Given the description of an element on the screen output the (x, y) to click on. 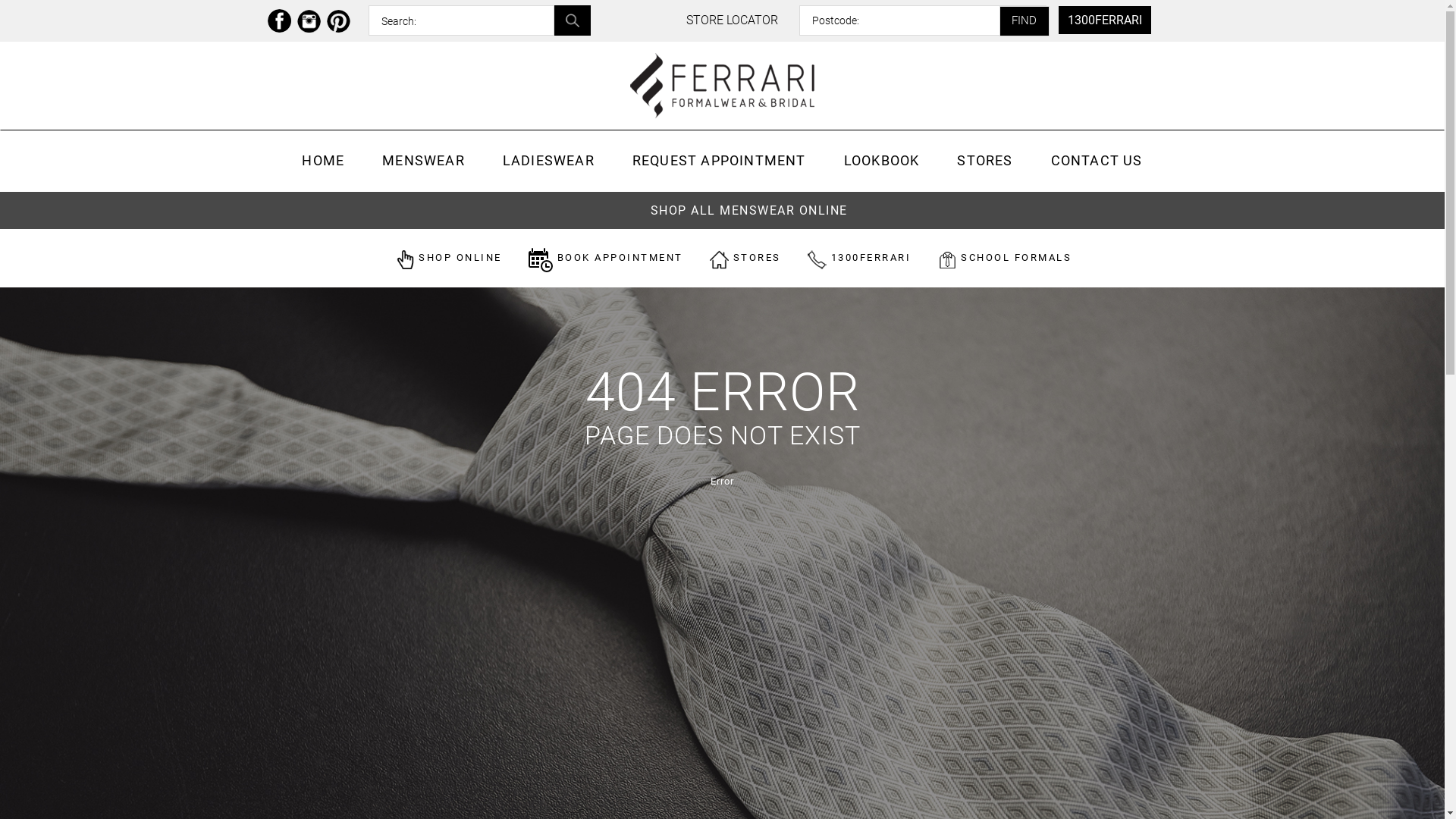
1300FERRARI Element type: text (847, 257)
HOME Element type: text (322, 160)
REQUEST APPOINTMENT Element type: text (719, 160)
SHOP ONLINE Element type: text (437, 257)
CONTACT US Element type: text (1096, 160)
SCHOOL FORMALS Element type: text (993, 257)
LOOKBOOK Element type: text (881, 160)
STORES Element type: text (734, 257)
SHOP ALL MENSWEAR ONLINE Element type: text (748, 210)
LADIESWEAR Element type: text (548, 160)
MENSWEAR Element type: text (423, 160)
FIND Element type: text (1024, 21)
STORES Element type: text (984, 160)
1300FERRARI Element type: text (1104, 20)
BOOK APPOINTMENT Element type: text (594, 257)
